Given the description of an element on the screen output the (x, y) to click on. 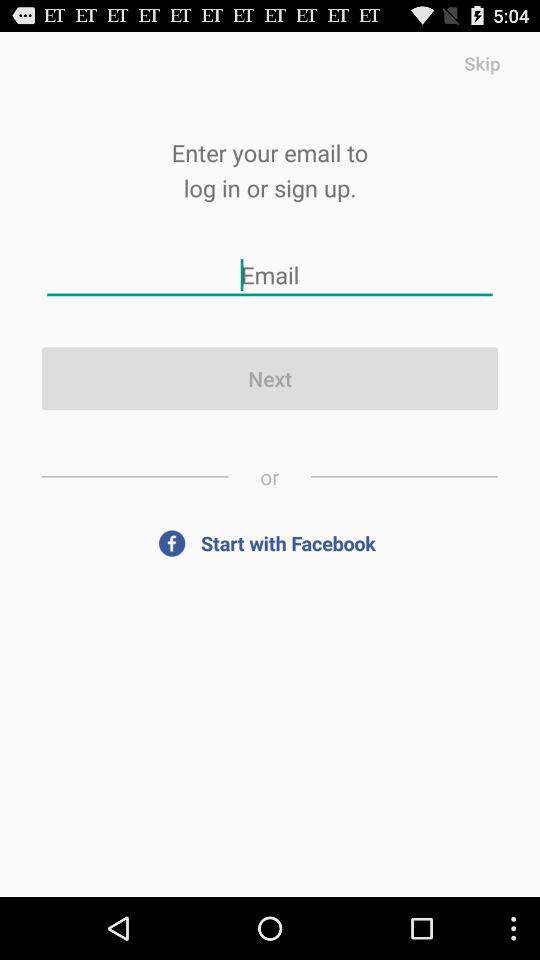
select skip icon (482, 62)
